Given the description of an element on the screen output the (x, y) to click on. 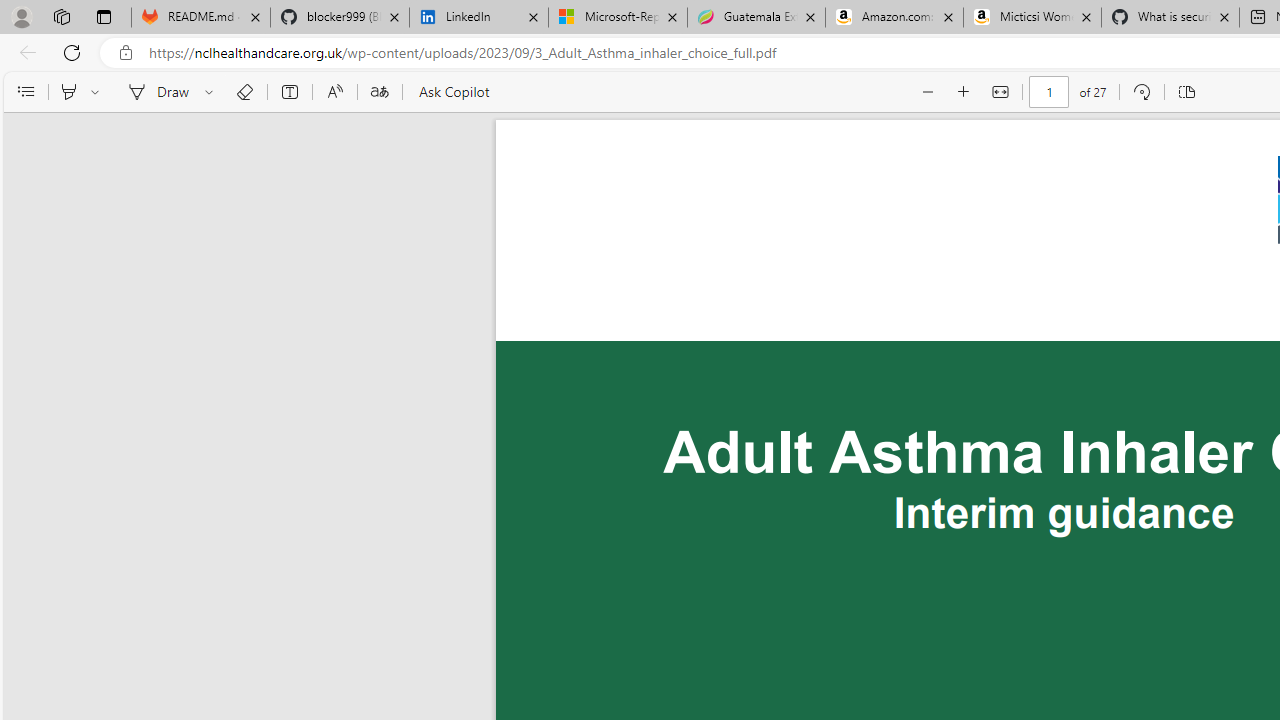
Rotate (Ctrl+]) (1140, 92)
LinkedIn (478, 17)
Ask Copilot (452, 92)
Page view (1185, 92)
Page number (1049, 92)
Add text (289, 92)
